Given the description of an element on the screen output the (x, y) to click on. 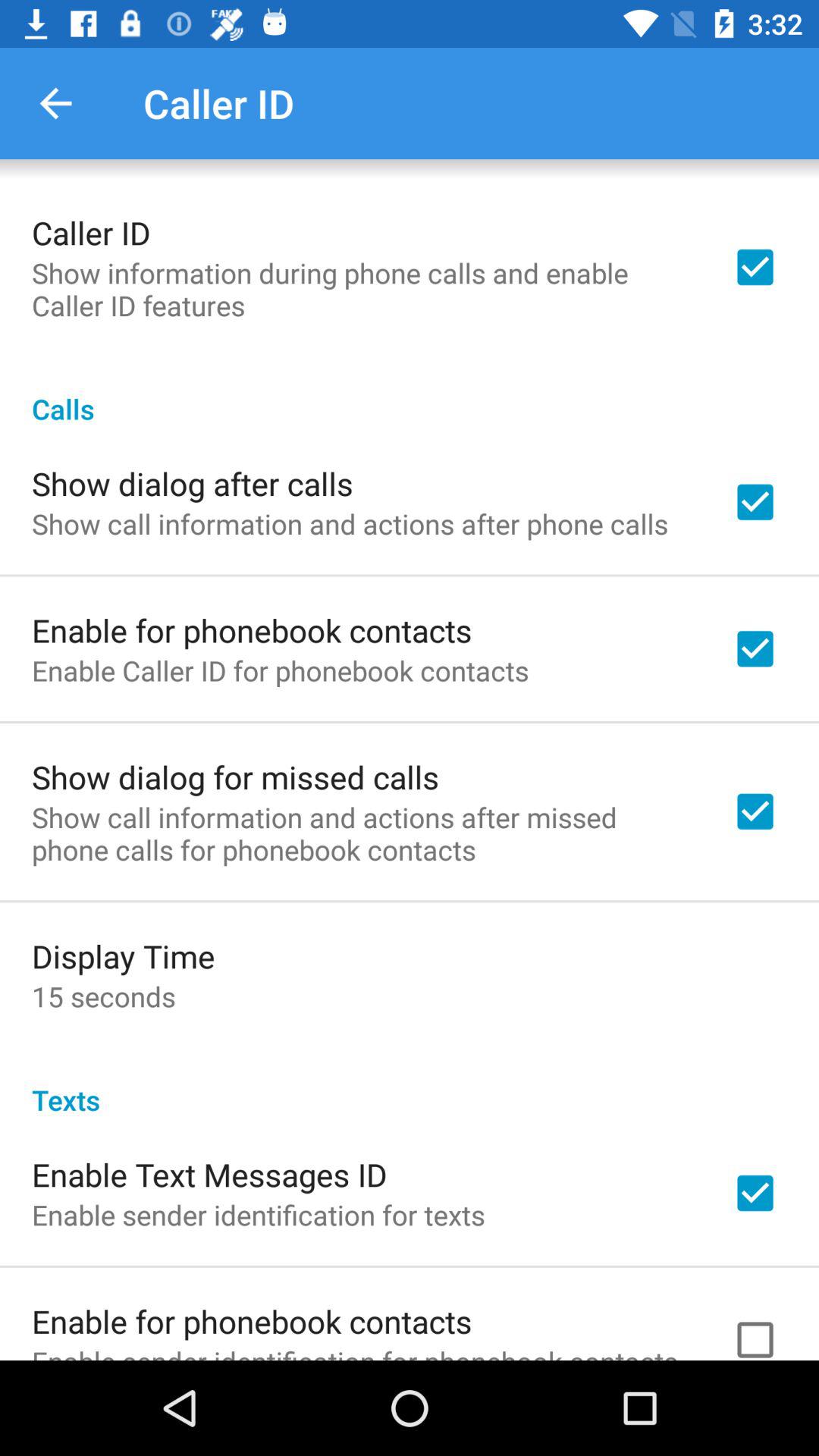
turn off the item below the show call information icon (122, 955)
